Given the description of an element on the screen output the (x, y) to click on. 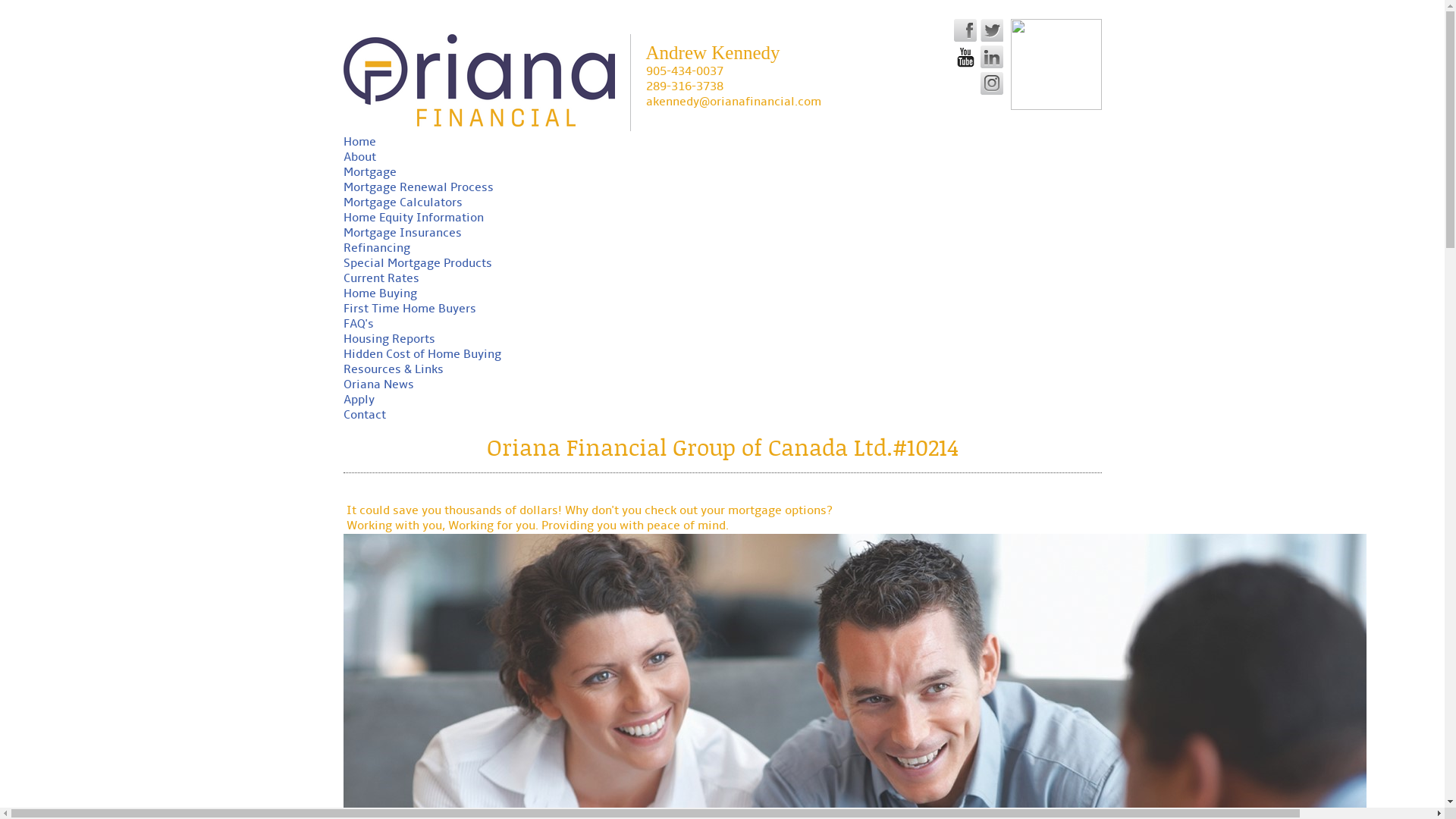
Mortgage Calculators Element type: text (401, 203)
Apply Element type: text (357, 400)
Contact Element type: text (363, 415)
Home Element type: text (358, 142)
Home Equity Information Element type: text (412, 218)
Oriana News Element type: text (377, 385)
Home Buying Element type: text (379, 294)
About Element type: text (358, 157)
Current Rates Element type: text (380, 279)
Refinancing Element type: text (375, 248)
FAQ's Element type: text (357, 324)
Mortgage Insurances Element type: text (401, 233)
Resources & Links Element type: text (392, 370)
Hidden Cost of Home Buying Element type: text (421, 354)
Special Mortgage Products Element type: text (416, 263)
Mortgage Element type: text (368, 172)
Housing Reports Element type: text (388, 339)
First Time Home Buyers Element type: text (408, 309)
Mortgage Renewal Process Element type: text (417, 188)
